Given the description of an element on the screen output the (x, y) to click on. 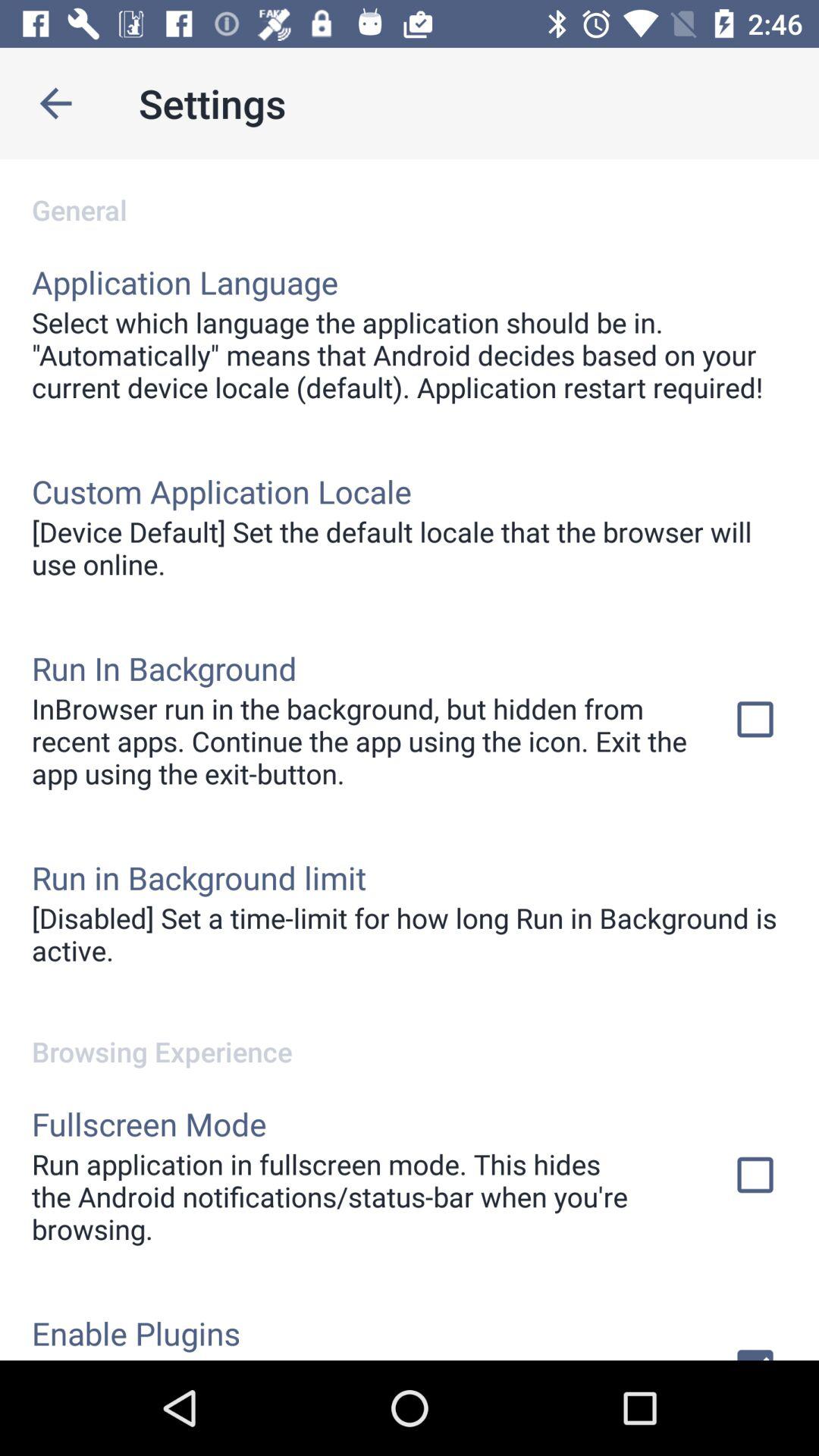
swipe until disabled set a (409, 934)
